Given the description of an element on the screen output the (x, y) to click on. 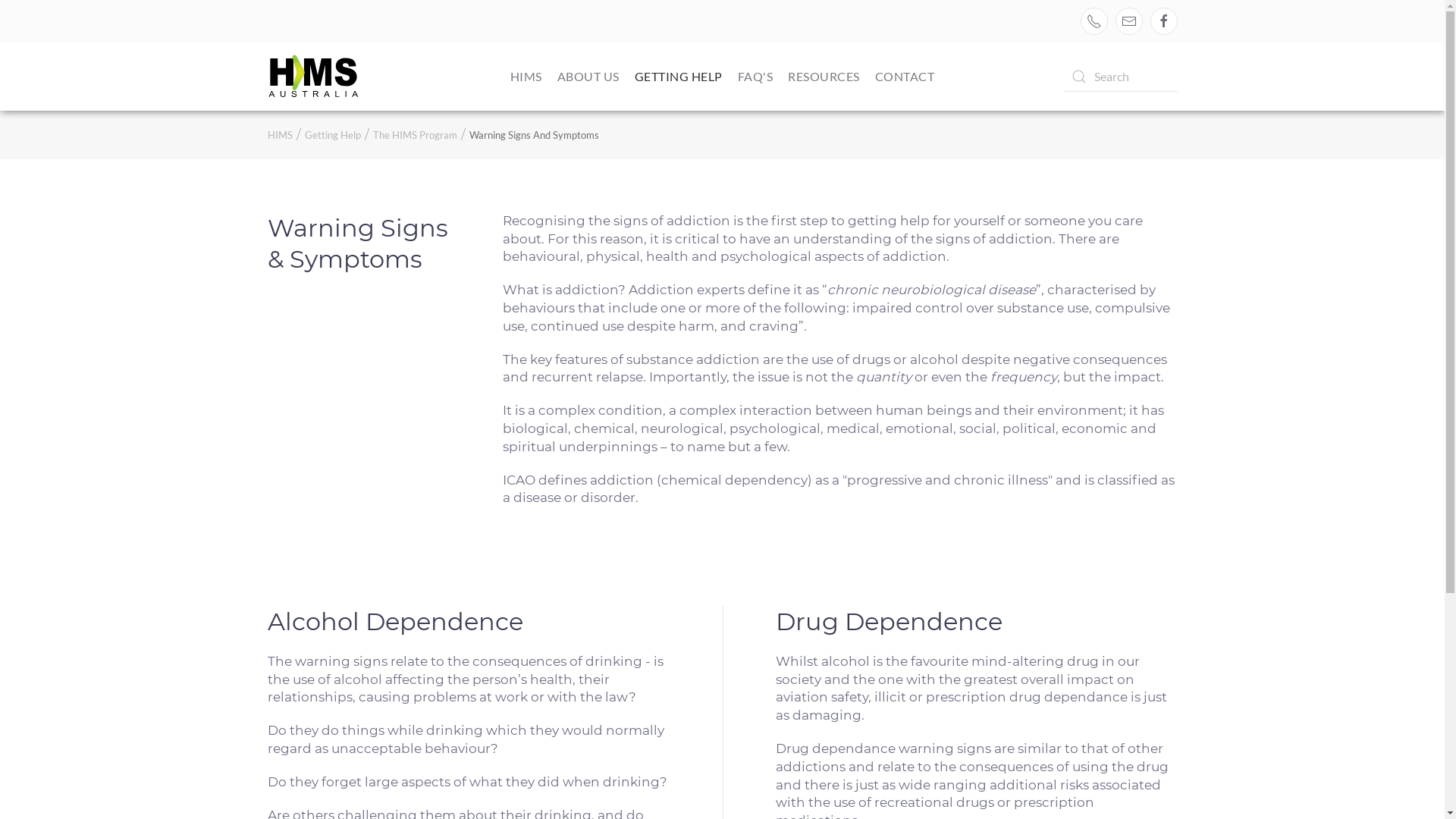
RESOURCES Element type: text (823, 76)
ABOUT US Element type: text (588, 76)
CONTACT Element type: text (904, 76)
HIMS Element type: text (278, 134)
HIMS Element type: text (525, 76)
FAQ'S Element type: text (755, 76)
GETTING HELP Element type: text (678, 76)
